Given the description of an element on the screen output the (x, y) to click on. 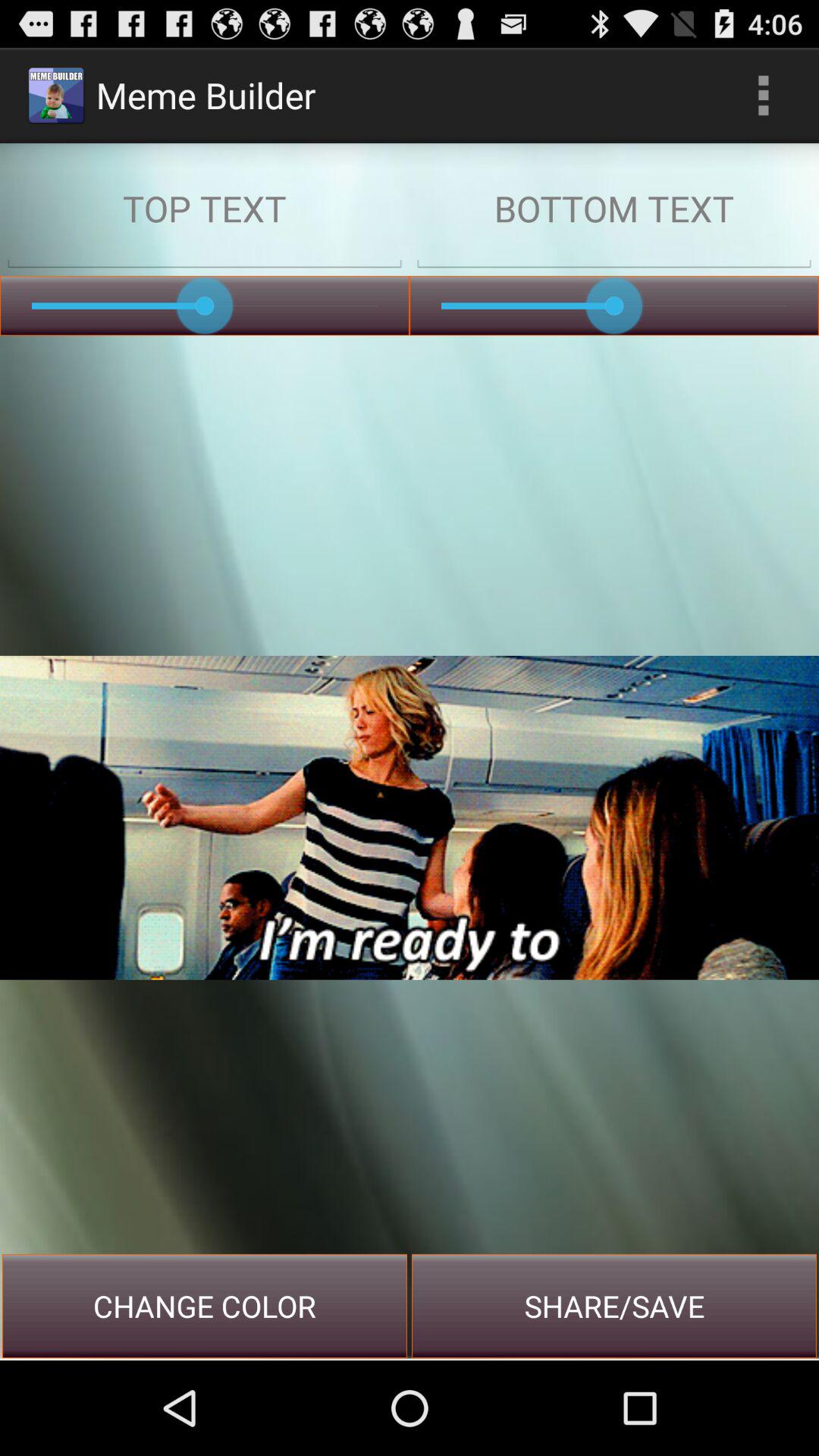
choose item next to the share/save (204, 1306)
